Given the description of an element on the screen output the (x, y) to click on. 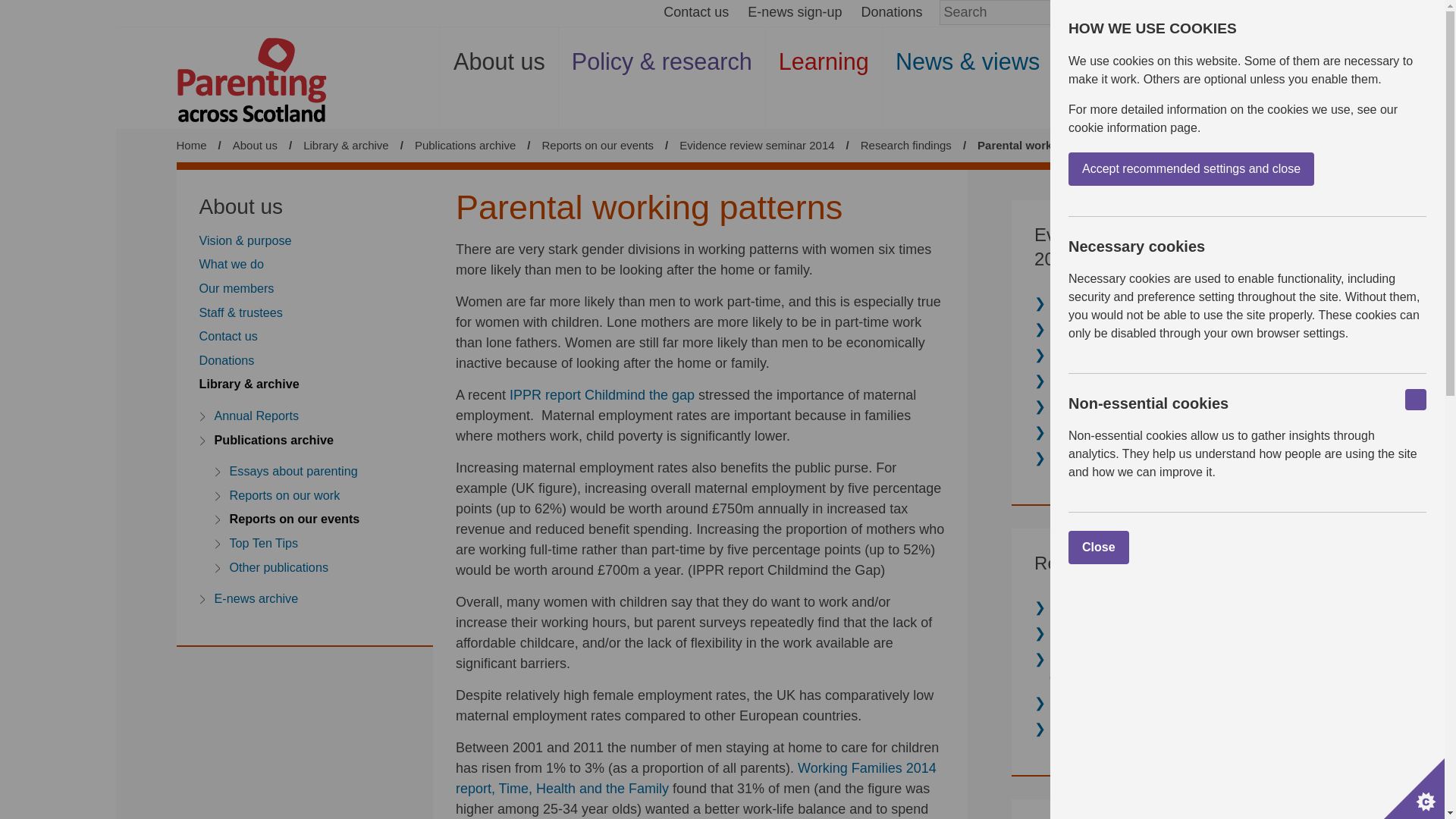
Donations (890, 11)
Close (1136, 547)
Research findings (1107, 328)
Background (1089, 303)
Ministerial response (1113, 354)
E-news sign-up (794, 11)
Children in need of care (1125, 702)
Roundtable discussions (1125, 406)
Panel response (1100, 380)
Family formation and dissolution (1117, 667)
Introduction (1088, 607)
Evidence review seminar 2014 (756, 144)
Households and families (1127, 632)
About us (499, 77)
Home (191, 144)
